Given the description of an element on the screen output the (x, y) to click on. 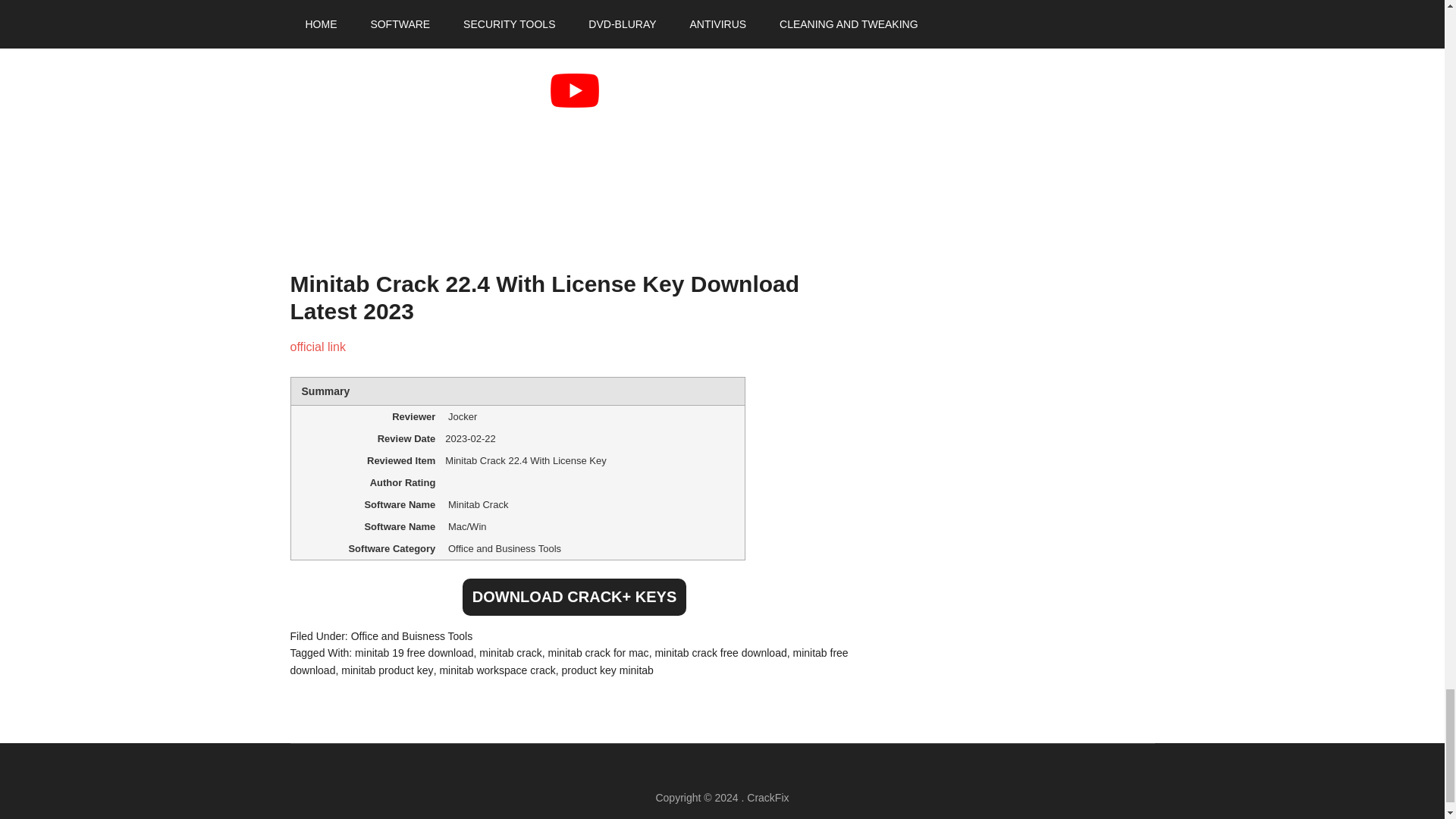
Office and Buisness Tools (411, 635)
product key minitab (606, 670)
minitab crack (510, 653)
minitab product key (386, 670)
minitab free download (568, 661)
official link (317, 346)
minitab crack free download (719, 653)
minitab workspace crack (496, 670)
minitab 19 free download (414, 653)
minitab crack for mac (598, 653)
